Given the description of an element on the screen output the (x, y) to click on. 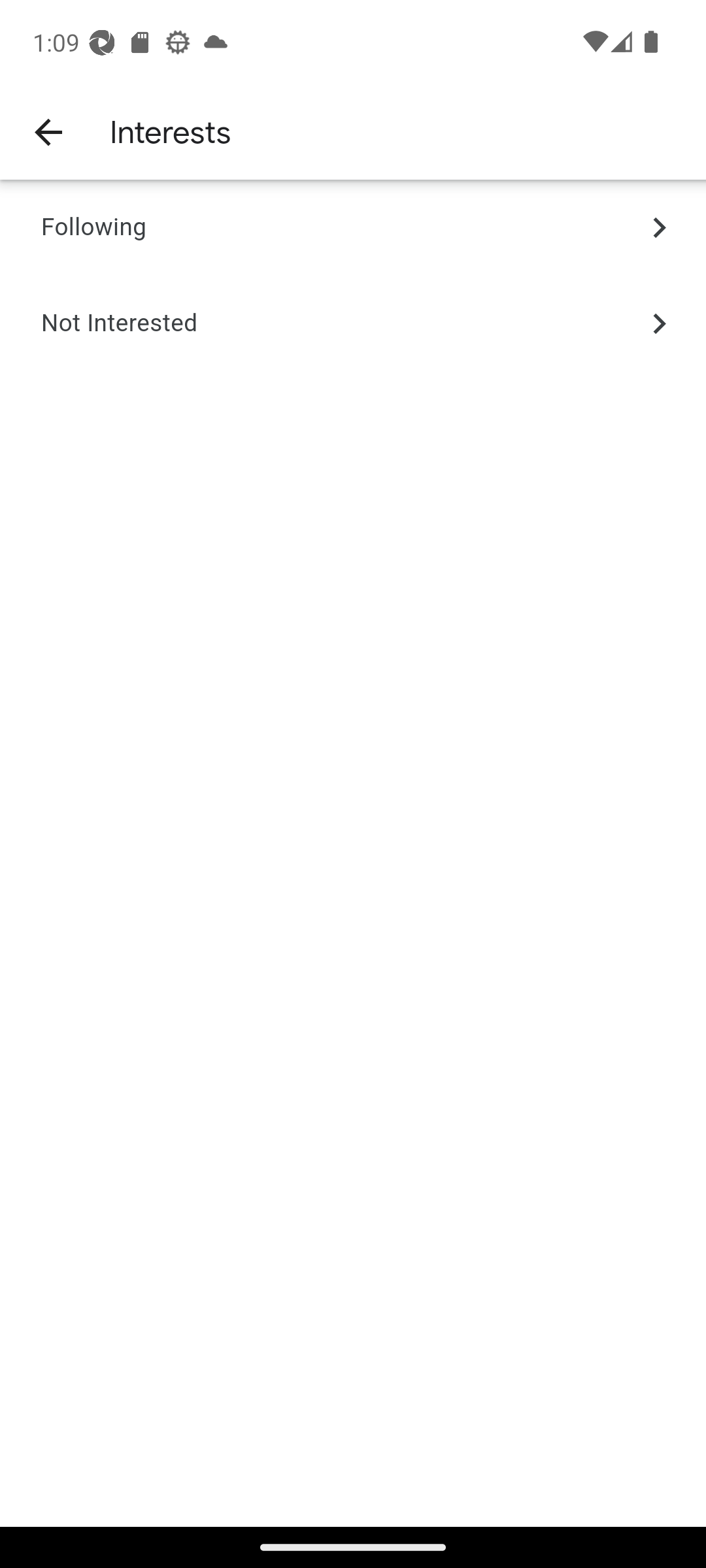
Back (47, 130)
Following Following Following (353, 227)
Following (93, 227)
Not Interested Not Interested Not Interested (353, 323)
Not Interested (119, 323)
